Given the description of an element on the screen output the (x, y) to click on. 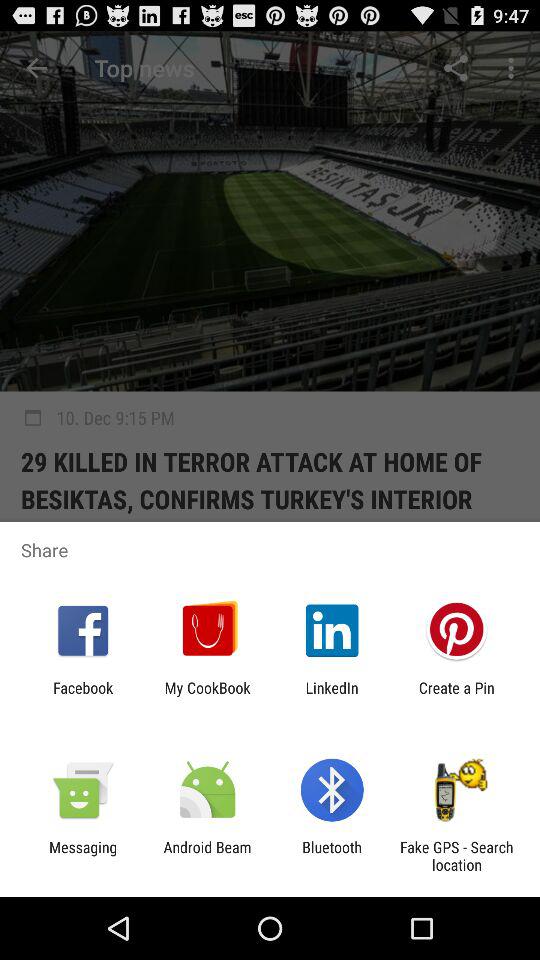
press the item to the left of the android beam (83, 856)
